Given the description of an element on the screen output the (x, y) to click on. 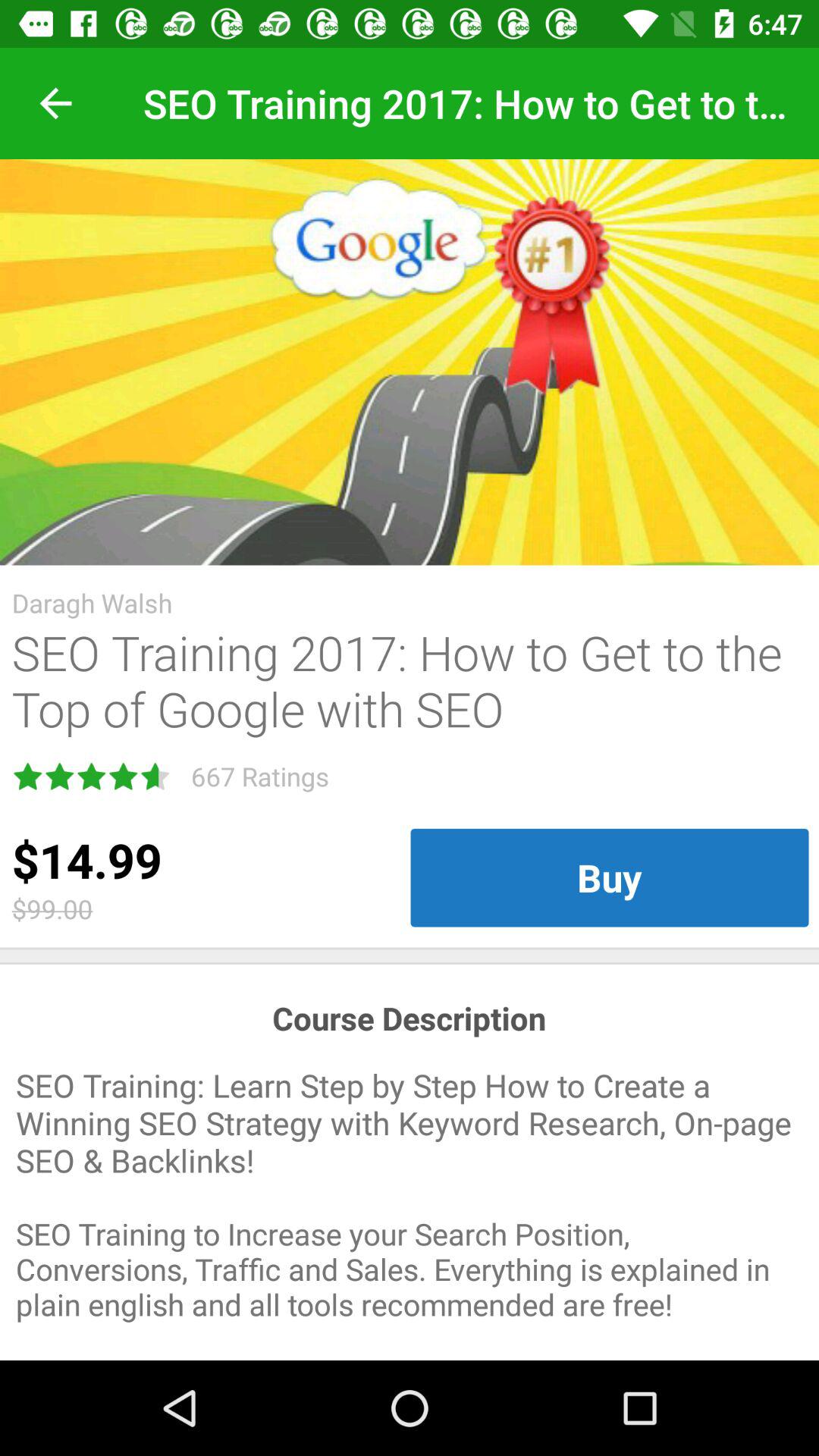
turn off item to the left of the seo training 2017 (55, 103)
